Given the description of an element on the screen output the (x, y) to click on. 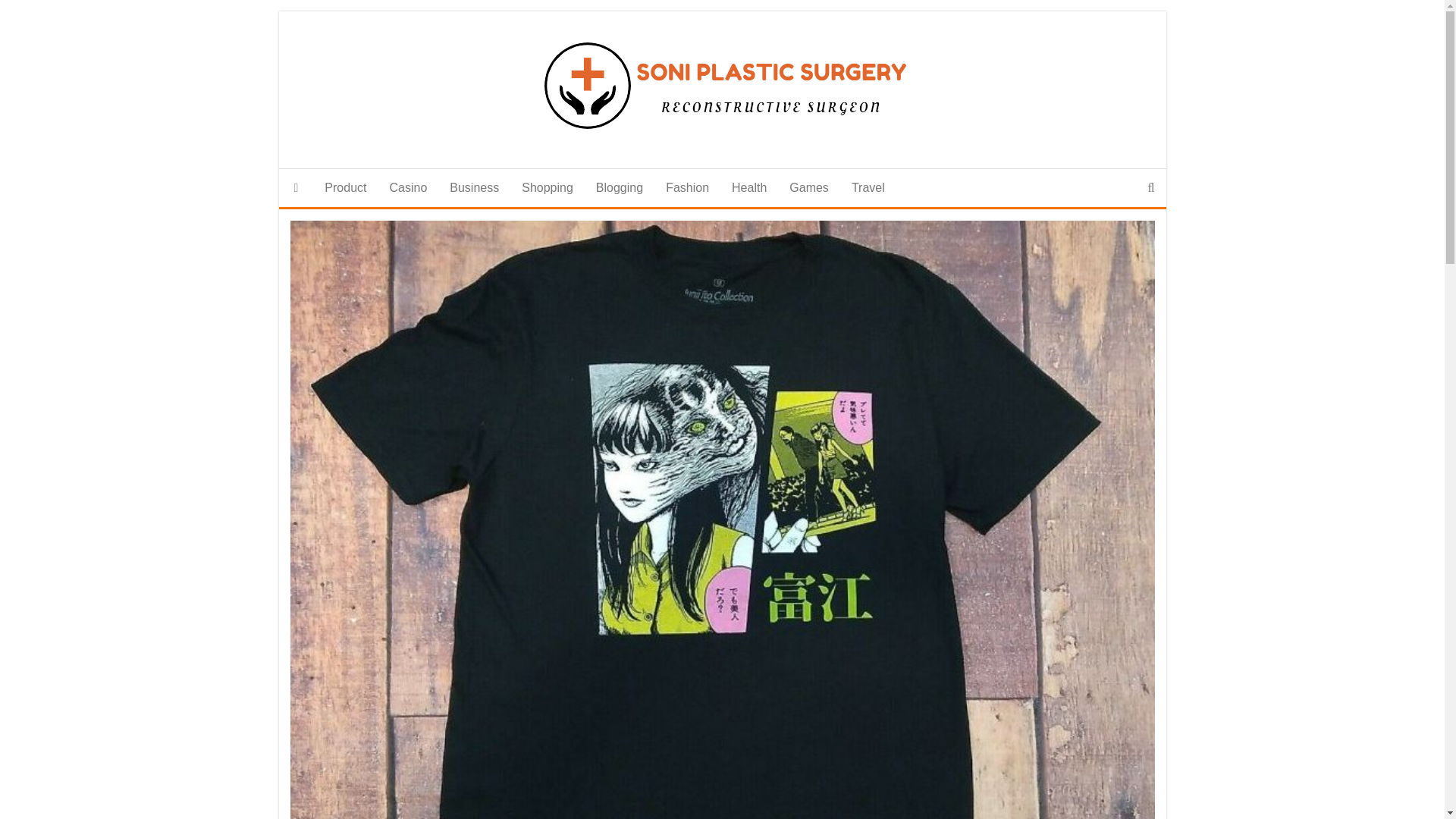
Casino (407, 187)
Casino (407, 187)
Health (748, 187)
Fashion (686, 187)
Soni Plastic Surgery (752, 180)
Product (345, 187)
Games (808, 187)
Soni Plastic Surgery (296, 187)
Business (474, 187)
Shopping (548, 187)
Shopping (548, 187)
Games (808, 187)
Travel (868, 187)
Fashion (686, 187)
